Given the description of an element on the screen output the (x, y) to click on. 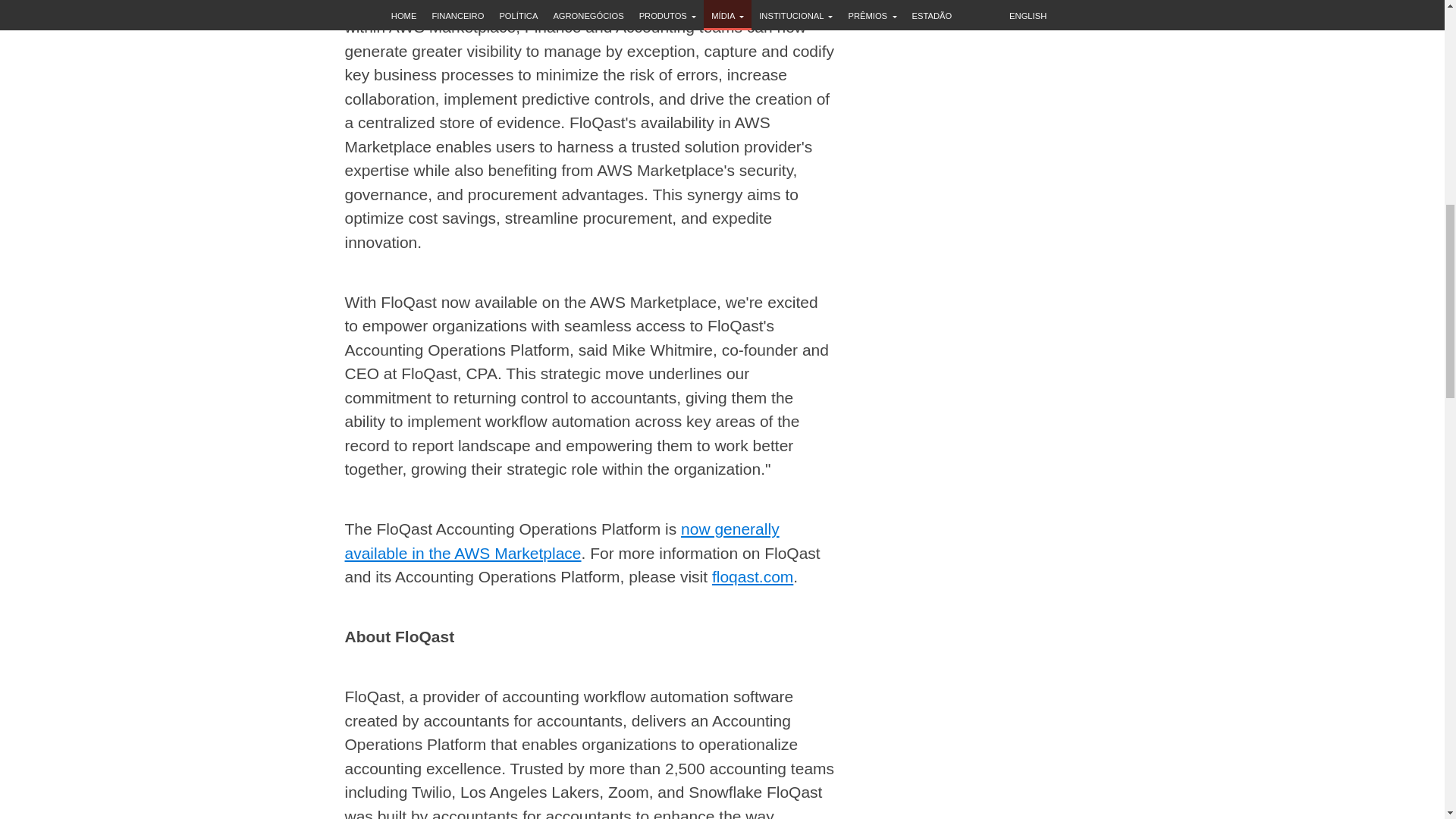
now generally available in the AWS Marketplace (560, 540)
